Given the description of an element on the screen output the (x, y) to click on. 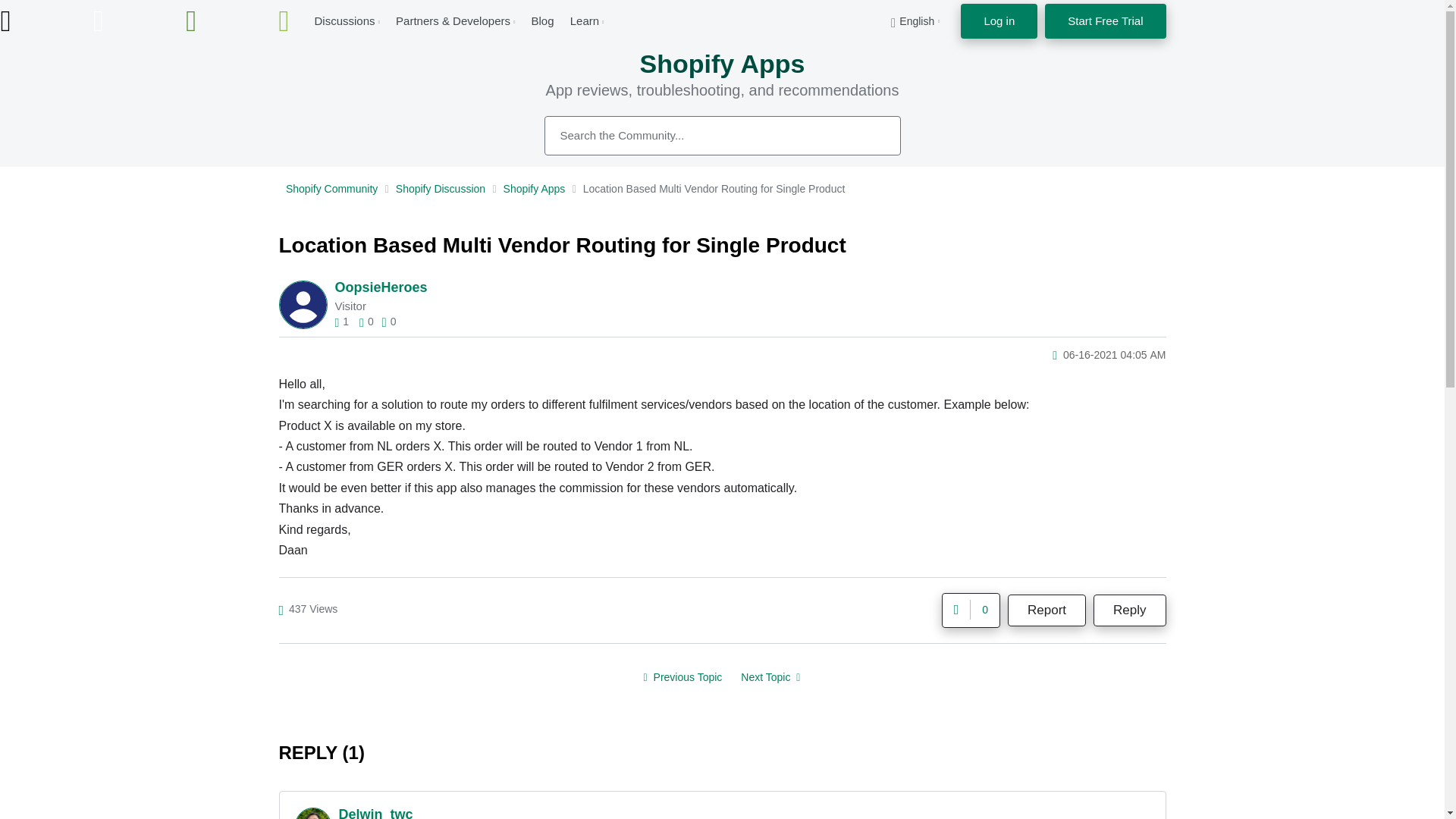
Search (872, 135)
Discussions (344, 20)
Search (872, 135)
Search (722, 135)
